Given the description of an element on the screen output the (x, y) to click on. 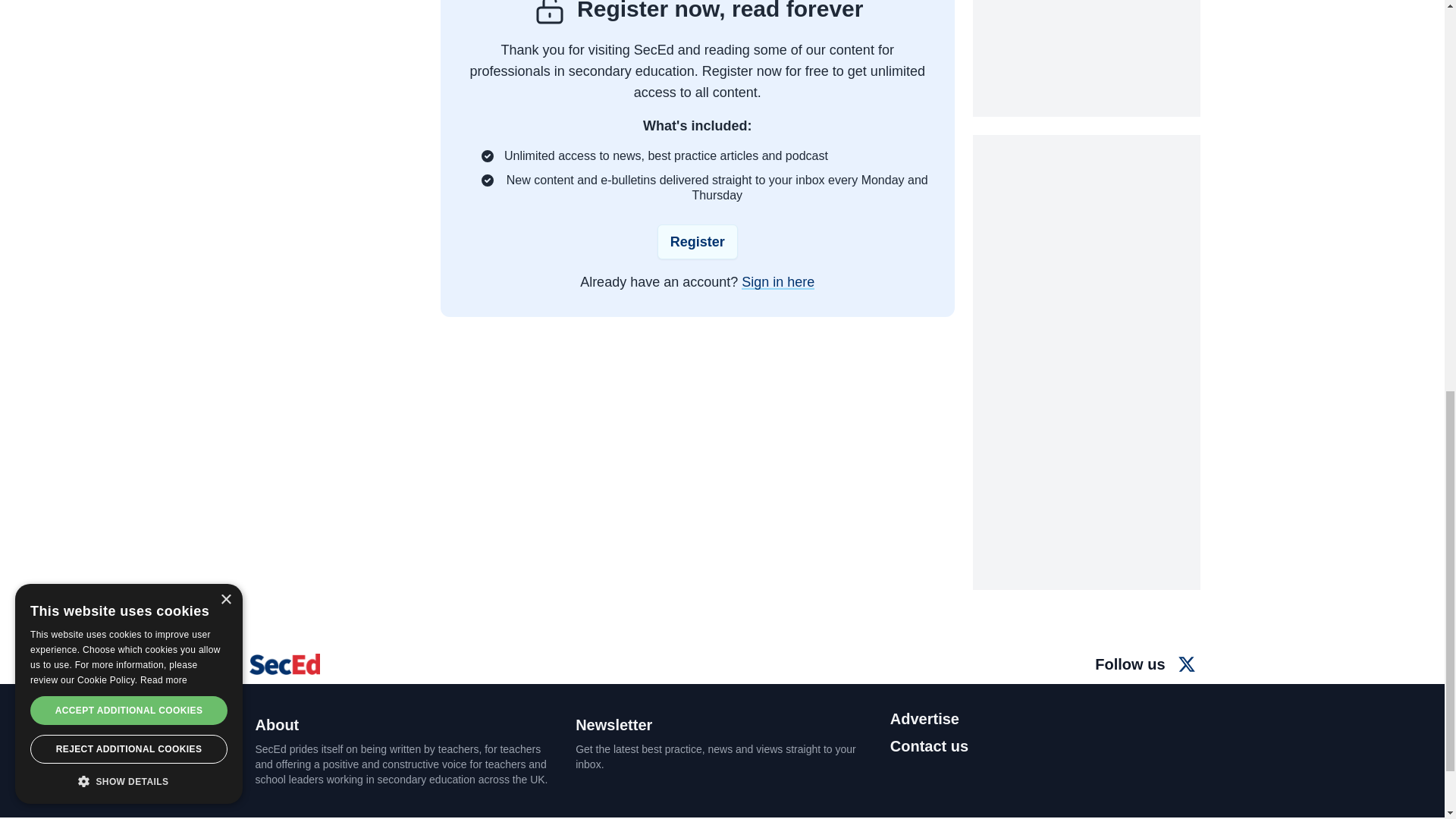
3rd party ad content (1085, 58)
